Given the description of an element on the screen output the (x, y) to click on. 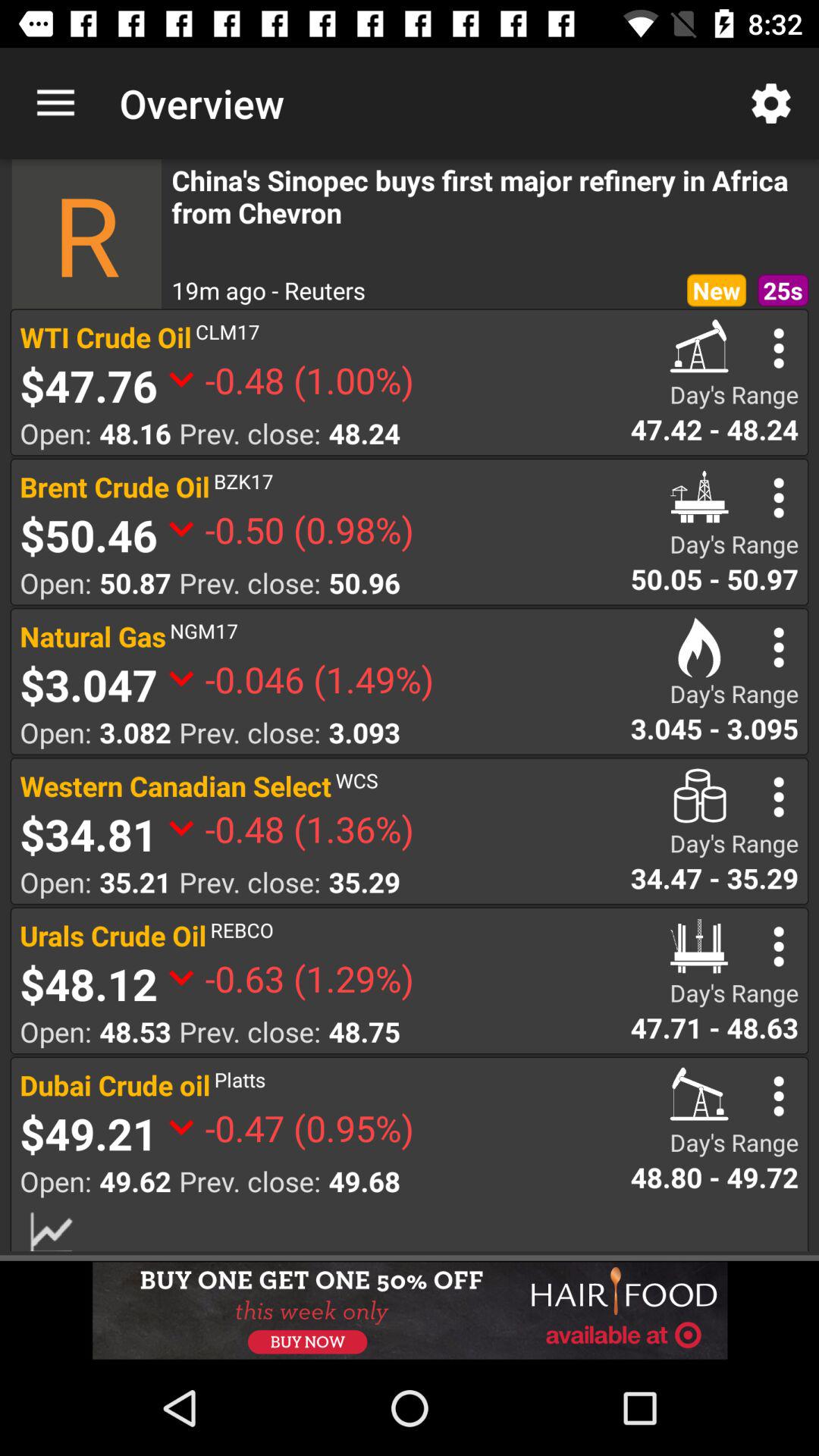
view options (778, 497)
